Given the description of an element on the screen output the (x, y) to click on. 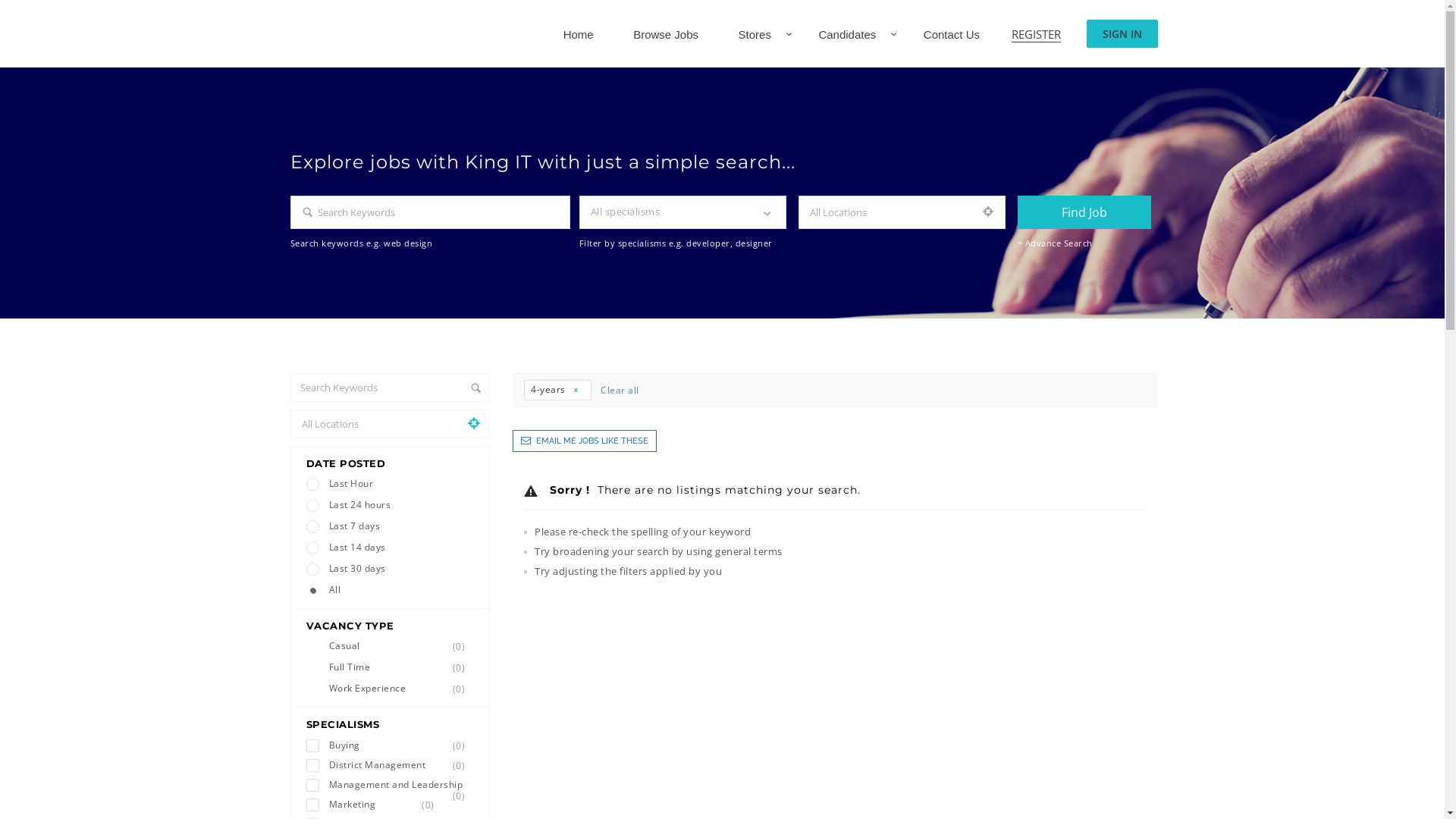
Last 24 hours Element type: text (390, 504)
+ Advance Search Element type: text (1054, 242)
Last 7 days Element type: text (390, 525)
Stores Element type: text (754, 34)
All Element type: text (390, 589)
All specialisms Element type: text (682, 212)
Home Element type: text (588, 34)
Contact Us Element type: text (951, 34)
Clear all Element type: text (619, 389)
Candidates Element type: text (846, 34)
Casual
(0) Element type: text (390, 645)
Last 14 days Element type: text (390, 547)
Find Job Element type: text (1084, 212)
REGISTER Element type: text (1035, 34)
Last 30 days Element type: text (390, 568)
SIGN IN Element type: text (1121, 33)
Browse Jobs Element type: text (665, 34)
4-years Element type: text (557, 389)
Last Hour Element type: text (390, 483)
Work Experience
(0) Element type: text (390, 688)
buyer Element type: text (4, 4)
EMAIL ME JOBS LIKE THESE Element type: text (584, 440)
Full Time
(0) Element type: text (390, 666)
